Given the description of an element on the screen output the (x, y) to click on. 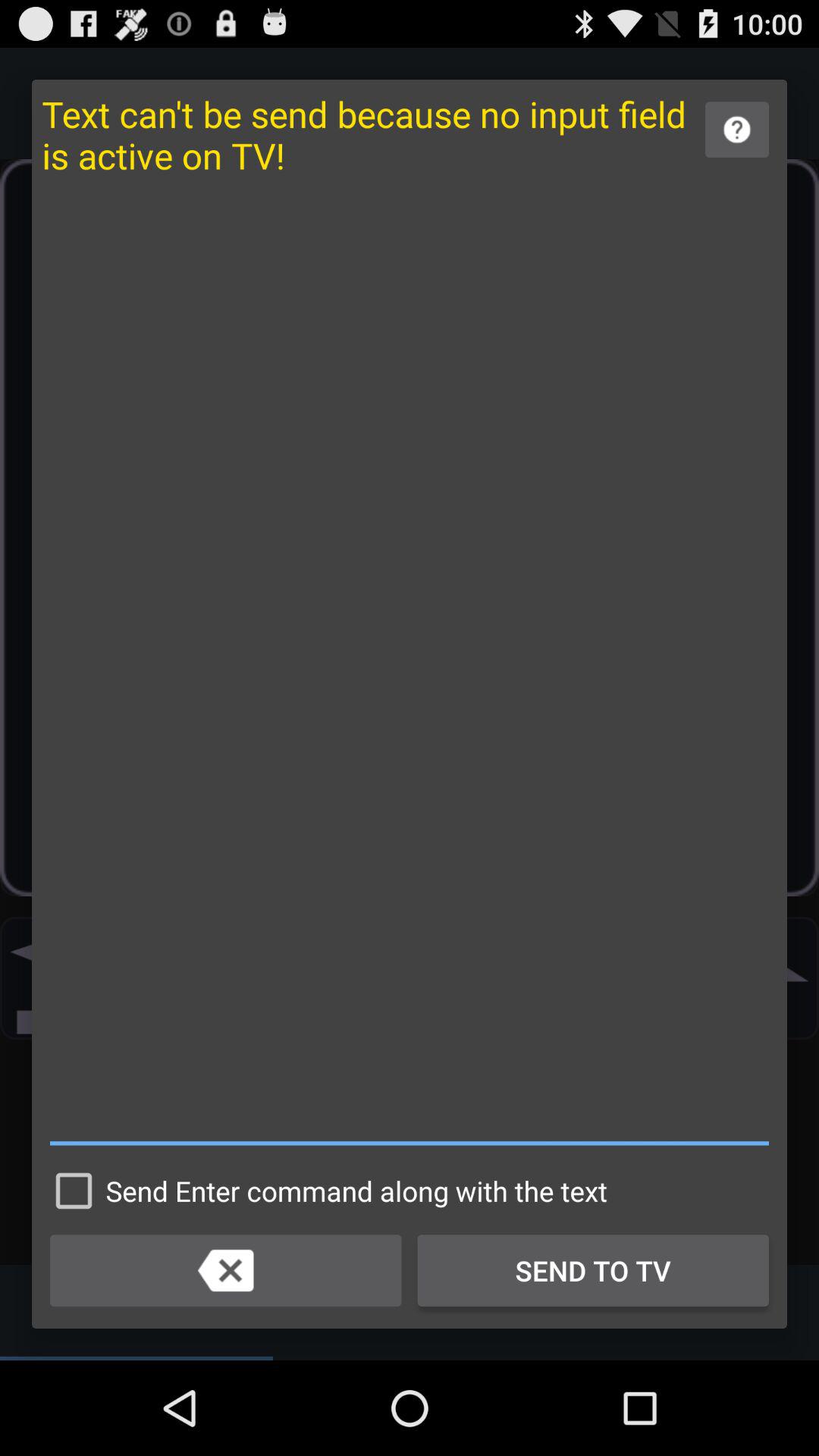
turn off icon next to send to tv item (225, 1270)
